Given the description of an element on the screen output the (x, y) to click on. 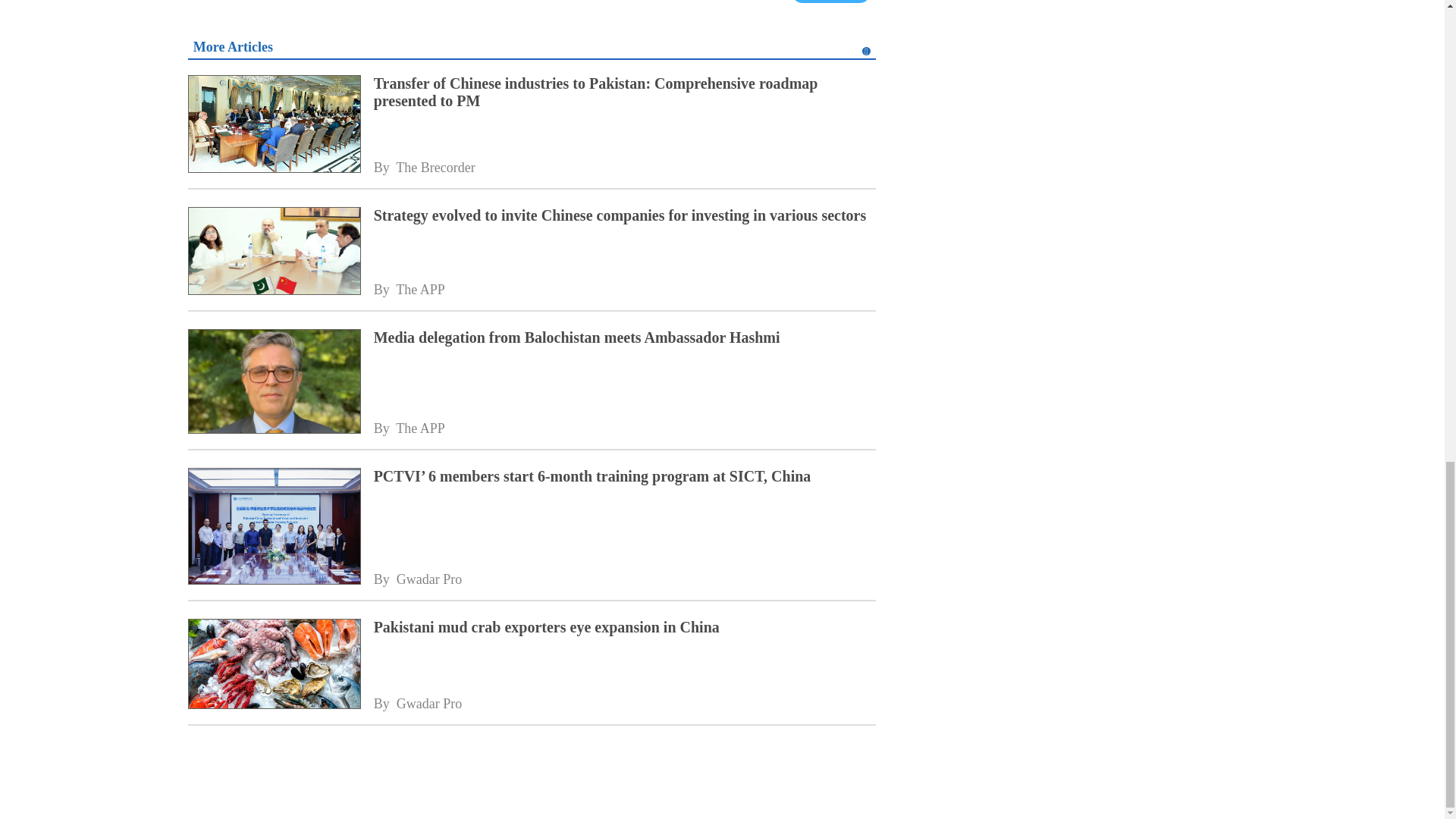
Media delegation from Balochistan meets Ambassador Hashmi (625, 337)
Pakistani mud crab exporters eye expansion in China (273, 665)
Pakistani mud crab exporters eye expansion in China (625, 627)
Pakistani mud crab exporters eye expansion in China (625, 627)
Release (831, 1)
Media delegation from Balochistan meets Ambassador Hashmi (625, 337)
Media delegation from Balochistan meets Ambassador Hashmi (273, 382)
